Given the description of an element on the screen output the (x, y) to click on. 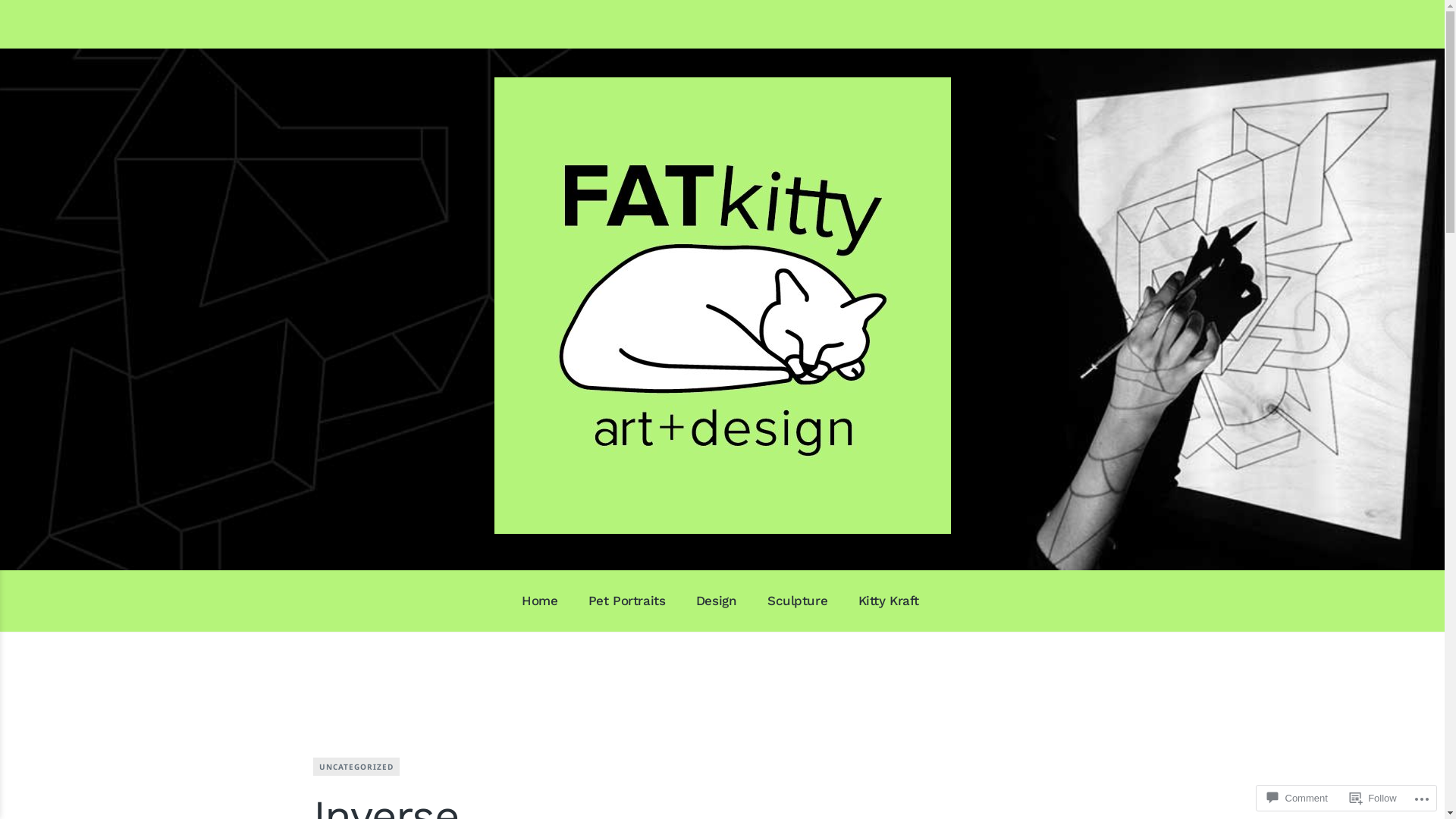
Sculpture Element type: text (797, 600)
Follow Element type: text (1372, 797)
Fat Kitty Art and Design Element type: text (236, 557)
Kitty Kraft Element type: text (888, 600)
Design Element type: text (715, 600)
UNCATEGORIZED Element type: text (355, 766)
Home Element type: text (539, 600)
Comment Element type: text (1296, 797)
Pet Portraits Element type: text (626, 600)
